Given the description of an element on the screen output the (x, y) to click on. 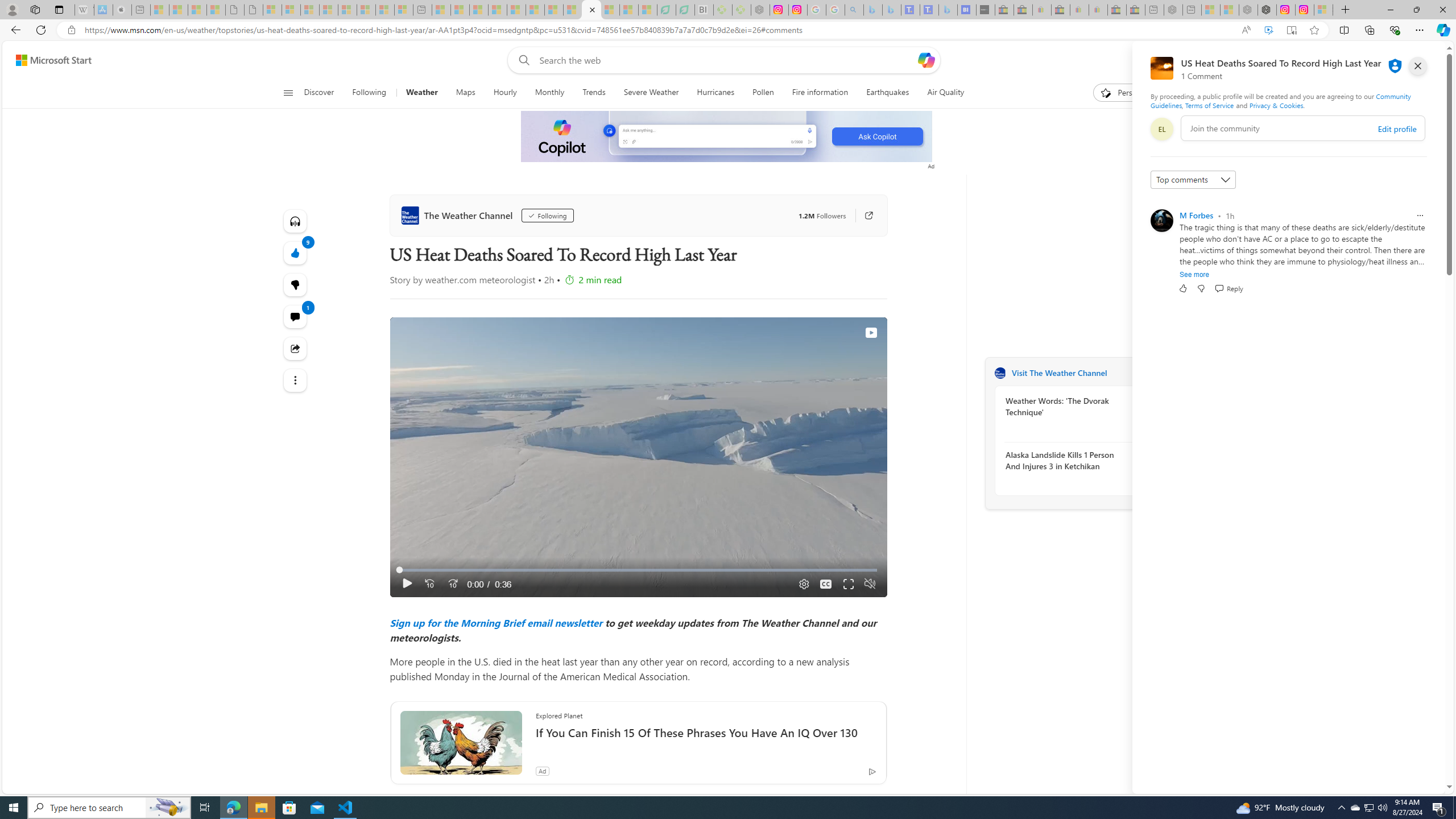
Monthly (549, 92)
close (1417, 65)
Microsoft Bing Travel - Shangri-La Hotel Bangkok - Sleeping (947, 9)
Pollen (763, 92)
Trends (593, 92)
Enter your search term (726, 59)
Monthly (549, 92)
Threats and offensive language policy | eBay - Sleeping (1079, 9)
